Given the description of an element on the screen output the (x, y) to click on. 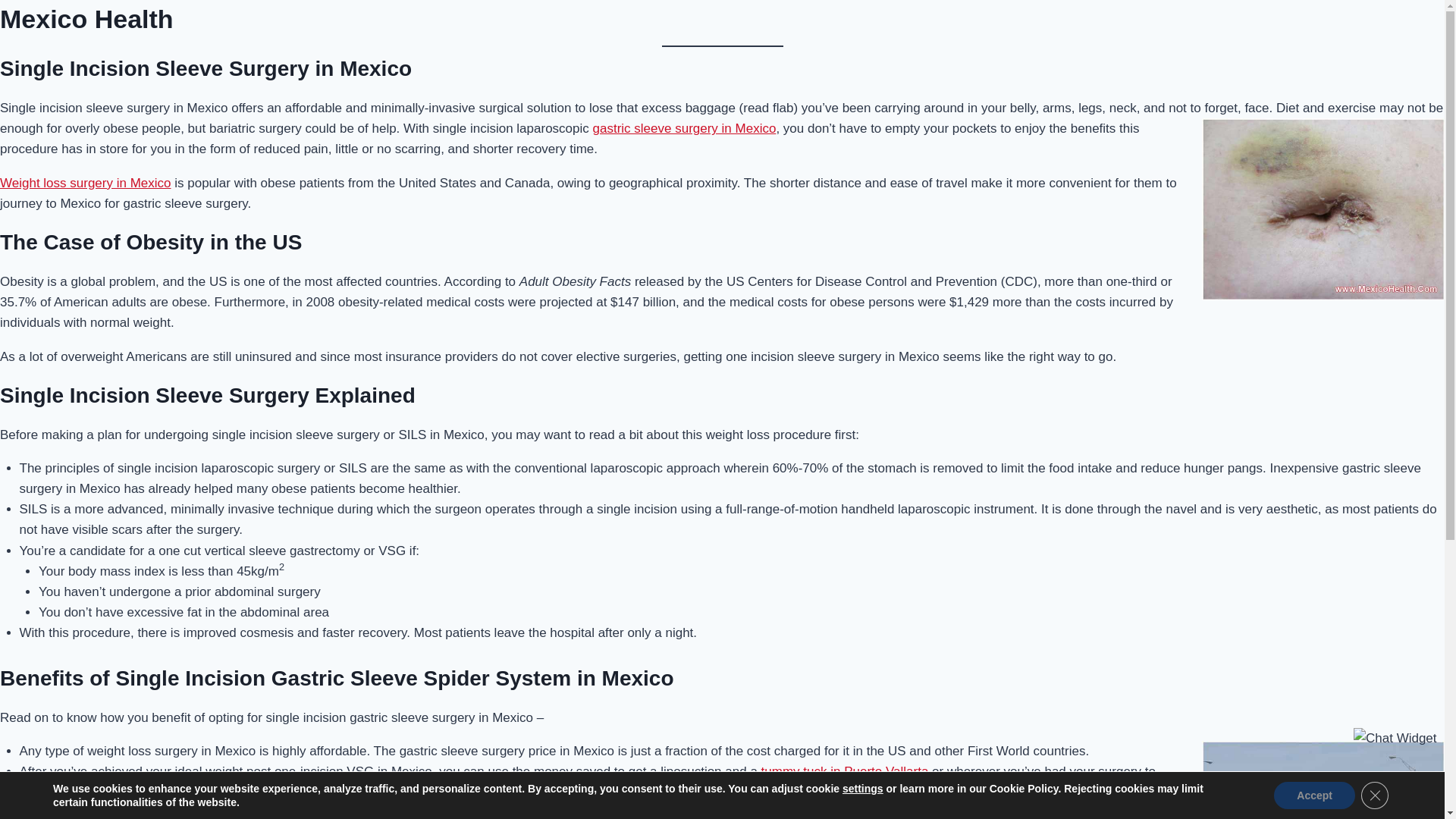
Mexico Health (86, 18)
Bariatric Surgery in Mexico (85, 183)
Accept (1314, 795)
tummy tuck in Puerto Vallarta (844, 771)
Close GDPR Cookie Banner (1375, 795)
Tummy Tuck in Puerto Vallarta, Mexico (844, 771)
Weight loss surgery in Mexico (85, 183)
Gastric Sleeve Surgery in Mexico (684, 128)
gastric sleeve surgery in Mexico (684, 128)
